Given the description of an element on the screen output the (x, y) to click on. 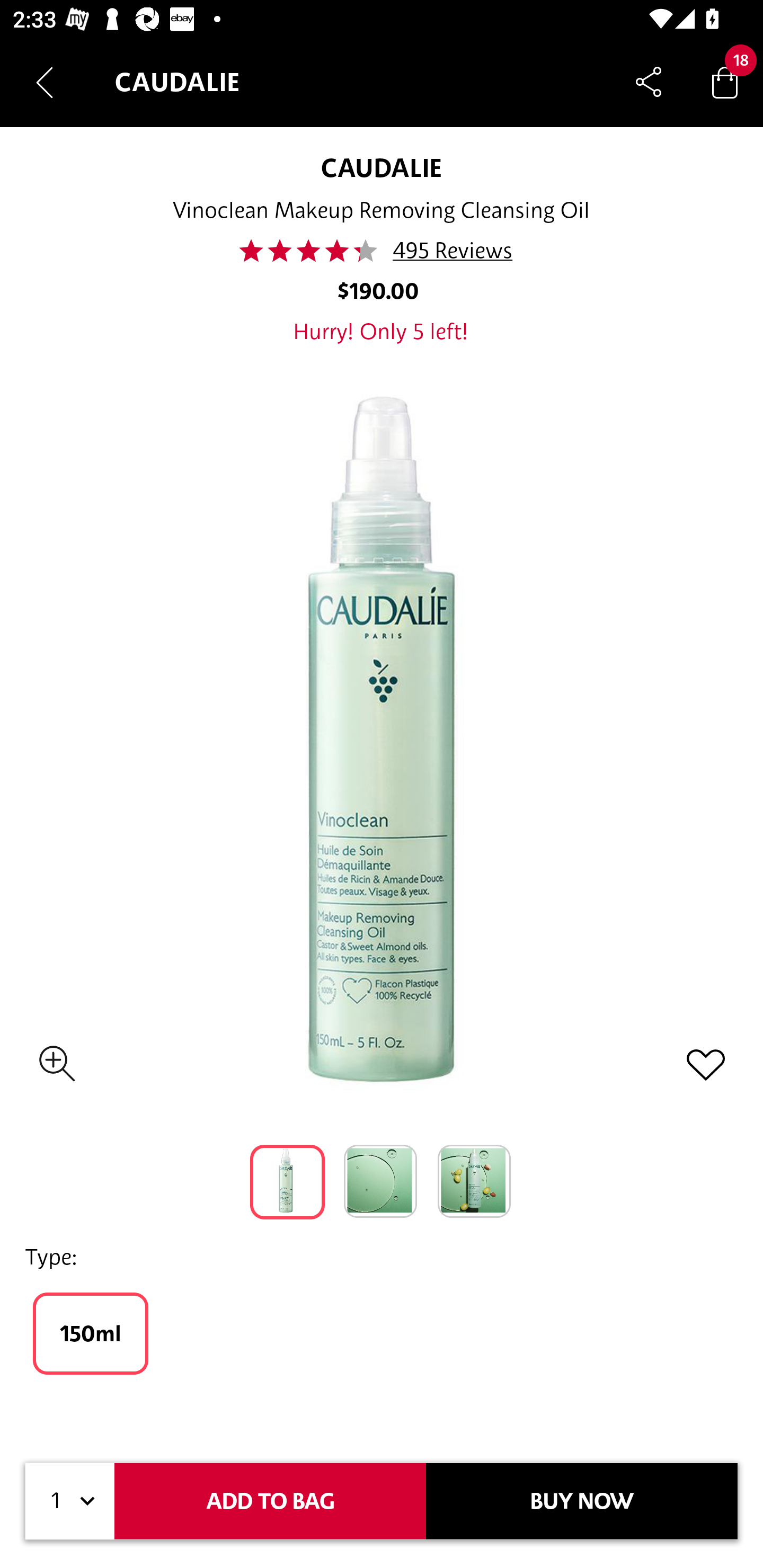
Navigate up (44, 82)
Share (648, 81)
Bag (724, 81)
CAUDALIE (380, 167)
43.0 495 Reviews (380, 250)
150ml (90, 1333)
1 (69, 1500)
ADD TO BAG (269, 1500)
BUY NOW (581, 1500)
